Given the description of an element on the screen output the (x, y) to click on. 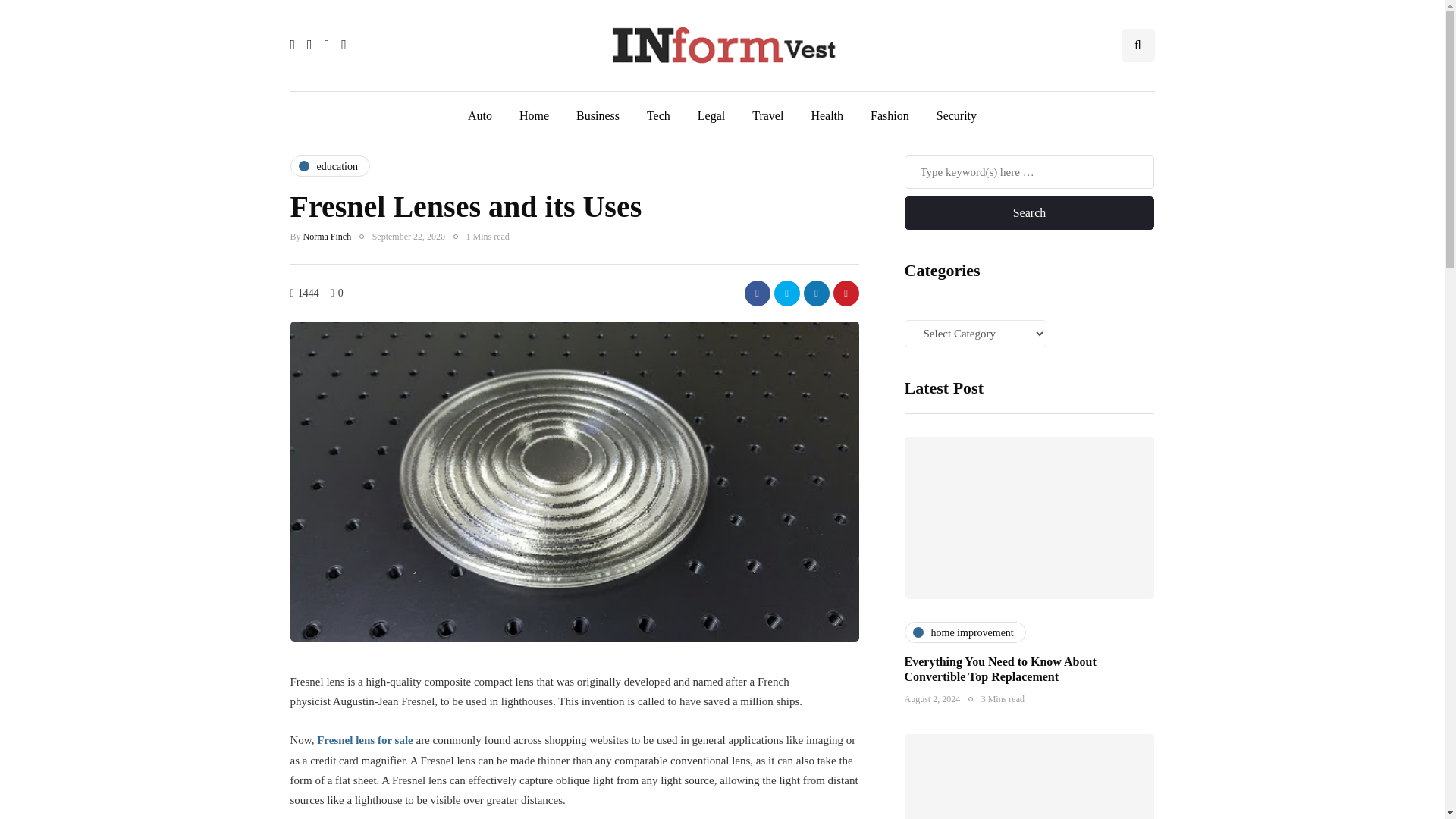
Share with Facebook (757, 293)
Pin this (845, 293)
Business (597, 115)
Share with LinkedIn (816, 293)
Tweet this (786, 293)
Security (956, 115)
Travel (767, 115)
Norma Finch (327, 235)
Auto (479, 115)
Tech (658, 115)
home improvement (964, 631)
Fresnel lens for sale (365, 739)
Search (1029, 213)
Home (533, 115)
